Given the description of an element on the screen output the (x, y) to click on. 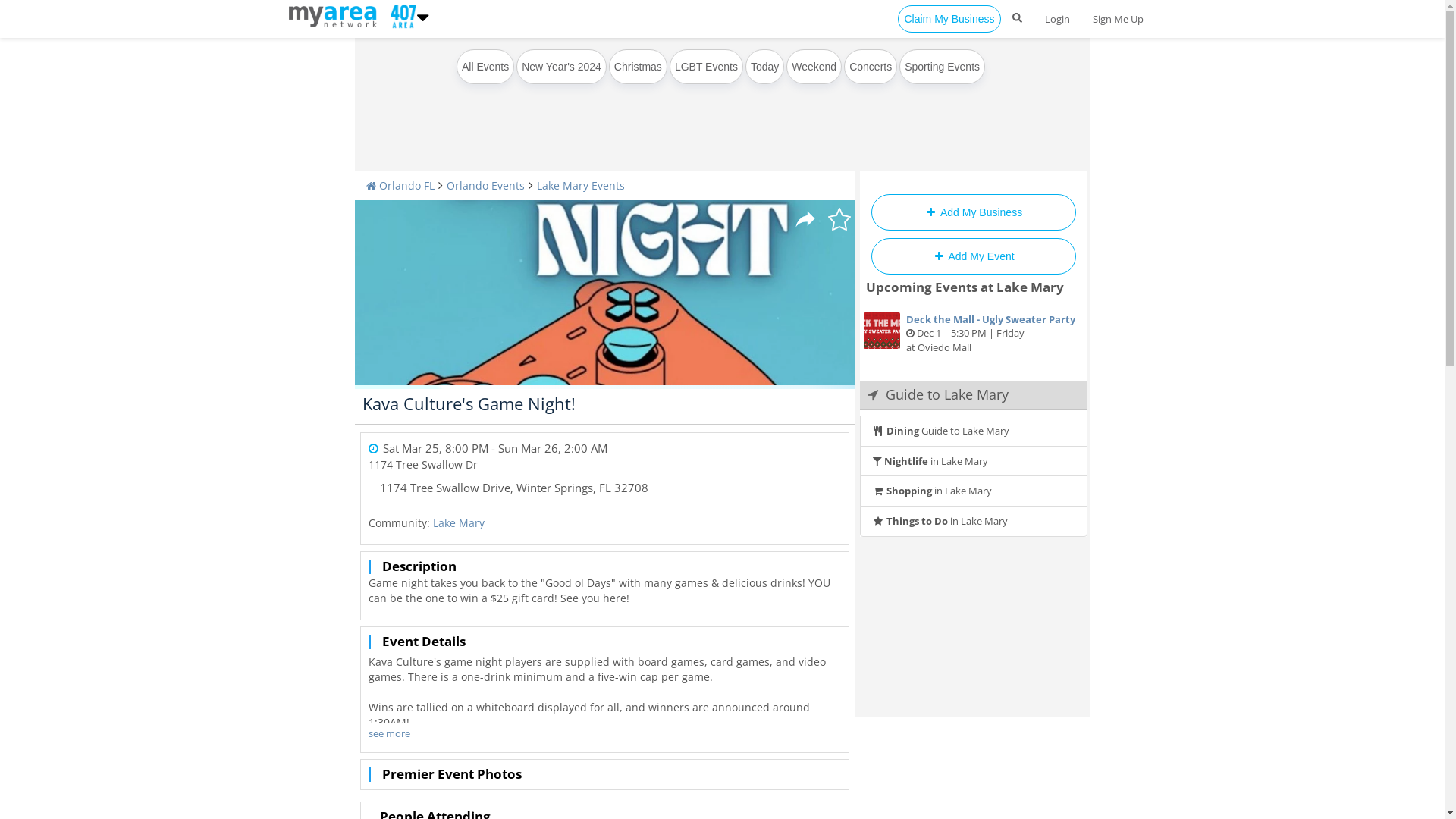
Lake Mary Events Element type: text (580, 185)
Login Element type: text (1056, 18)
Sign Me Up Element type: text (1117, 18)
Dining Guide to Lake Mary Element type: text (973, 430)
Add My Business Element type: text (972, 212)
Weekend Element type: text (813, 66)
Orlando FL Element type: text (399, 185)
Sporting Events Element type: text (942, 66)
New Year's 2024 Element type: text (561, 66)
https://www.407area.com Element type: hover (335, 15)
see more Element type: text (389, 733)
Things to Do in Lake Mary Element type: text (973, 520)
Orlando Events Element type: text (484, 185)
Today Element type: text (764, 66)
Christmas Element type: text (637, 66)
LGBT Events Element type: text (706, 66)
Concerts Element type: text (870, 66)
Nightlife in Lake Mary Element type: text (973, 460)
Claim My Business Element type: text (948, 18)
Upcoming Events at Lake Mary Element type: text (964, 286)
Add My Event Element type: text (972, 256)
https://www.407area.com Element type: hover (400, 15)
All Events Element type: text (485, 66)
Lake Mary Element type: text (457, 522)
Kava Culture's Game Night! Element type: text (468, 403)
Shopping in Lake Mary Element type: text (973, 490)
